Given the description of an element on the screen output the (x, y) to click on. 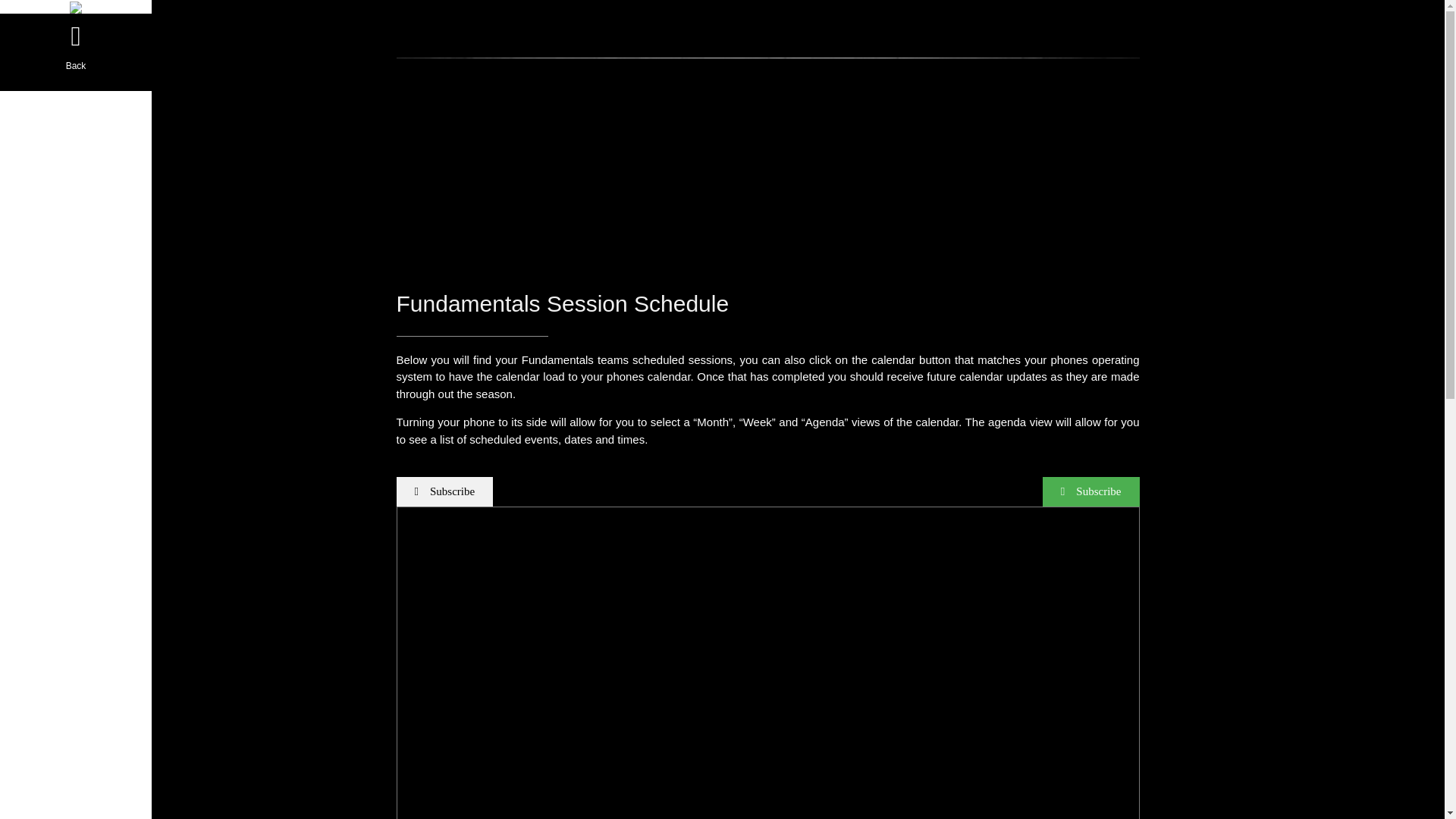
    Subscribe (1091, 491)
About (75, 129)
Back (75, 51)
Sessions (75, 206)
    Subscribe (444, 491)
Schedules (75, 283)
